Given the description of an element on the screen output the (x, y) to click on. 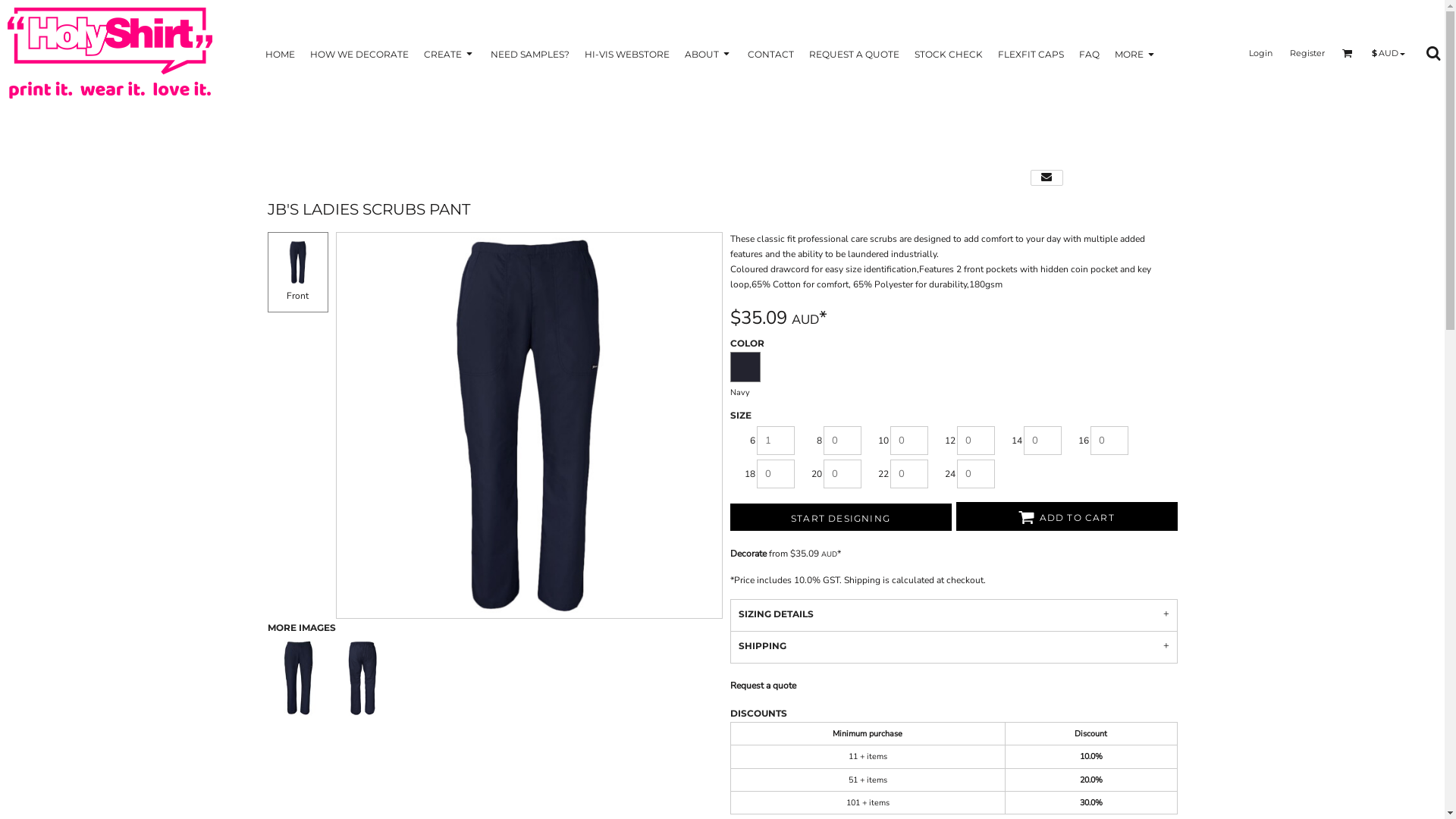
Register Element type: text (1306, 52)
Decorate Element type: text (747, 553)
START DESIGNING Element type: text (839, 516)
REQUEST A QUOTE Element type: text (853, 52)
HOME Element type: text (279, 52)
ABOUT Element type: text (707, 52)
Request a quote Element type: text (762, 685)
CONTACT Element type: text (770, 52)
FAQ Element type: text (1088, 52)
FLEXFIT CAPS Element type: text (1030, 52)
Front Element type: text (296, 271)
HI-VIS WEBSTORE Element type: text (625, 52)
as Element type: text (11, 7)
Login Element type: text (1259, 52)
Navy Element type: hover (744, 366)
STOCK CHECK Element type: text (948, 52)
NEED SAMPLES? Element type: text (528, 52)
HOW WE DECORATE Element type: text (358, 52)
ADD TO CART Element type: text (1065, 516)
CREATE Element type: text (448, 52)
